Given the description of an element on the screen output the (x, y) to click on. 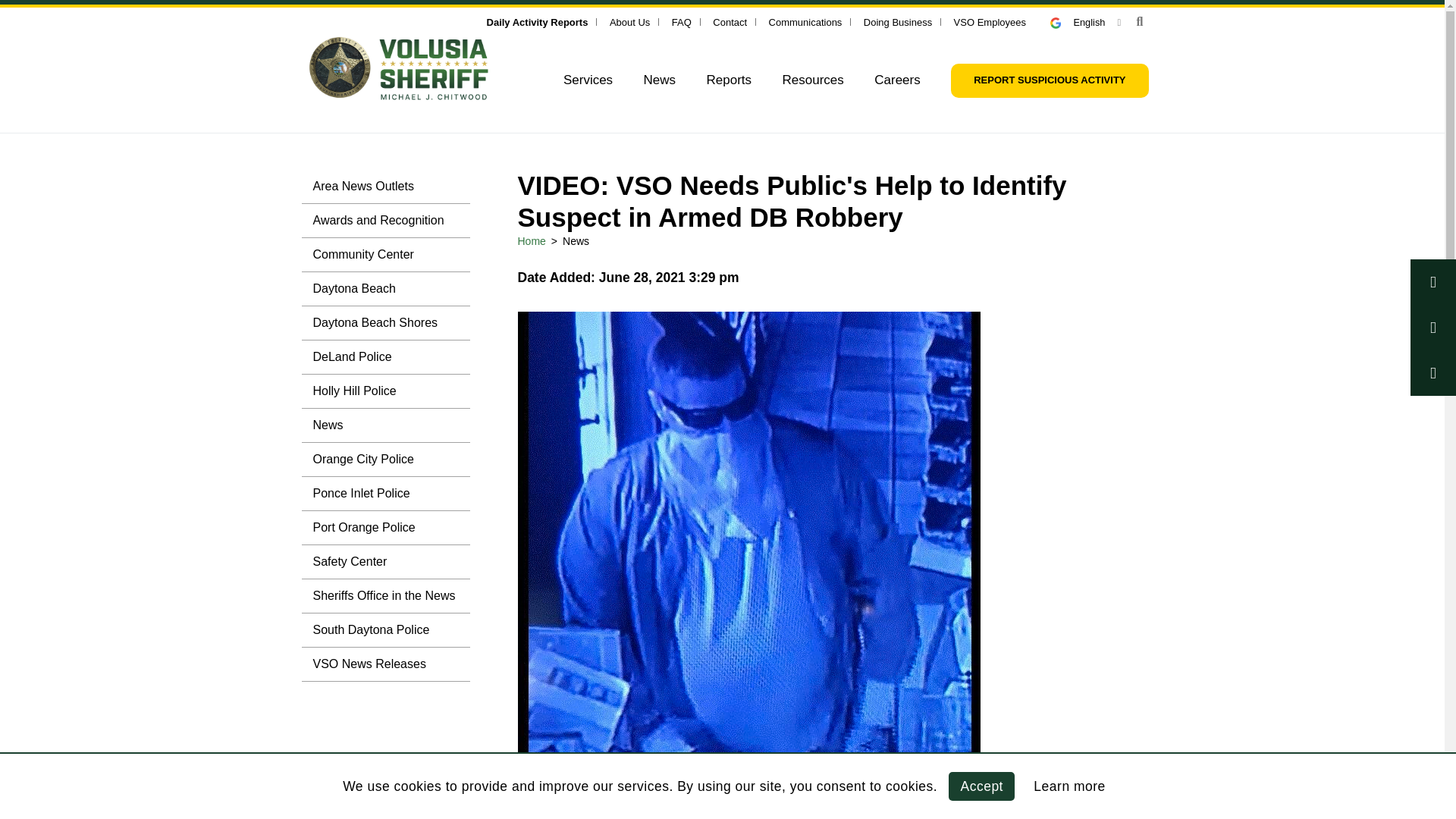
Translate (1061, 22)
Contact (729, 21)
Doing Business (897, 21)
English (1085, 21)
Communications (805, 21)
Daily Activity Reports (537, 21)
VSO Employees (989, 21)
About Us (629, 21)
FAQ (681, 21)
Translate (1085, 21)
